Given the description of an element on the screen output the (x, y) to click on. 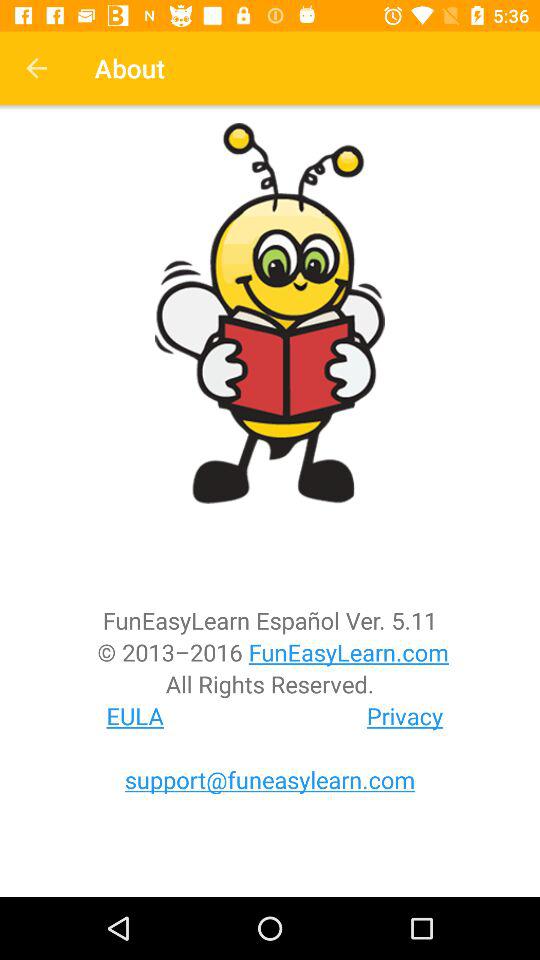
launch the icon next to about (36, 68)
